Given the description of an element on the screen output the (x, y) to click on. 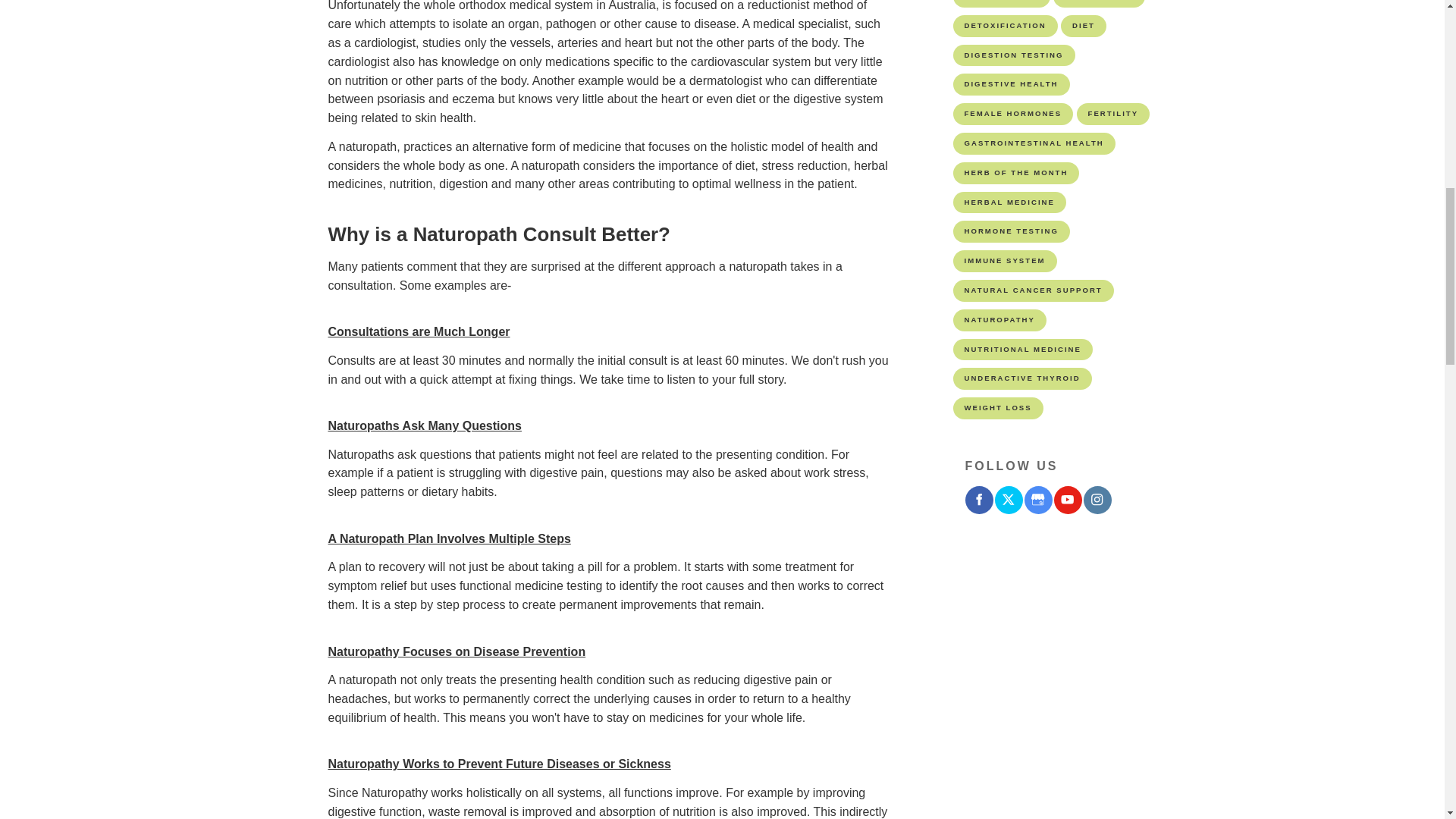
Instagram (1096, 500)
Facebook (977, 500)
Google My Business (1037, 500)
Youtube (1067, 500)
